Given the description of an element on the screen output the (x, y) to click on. 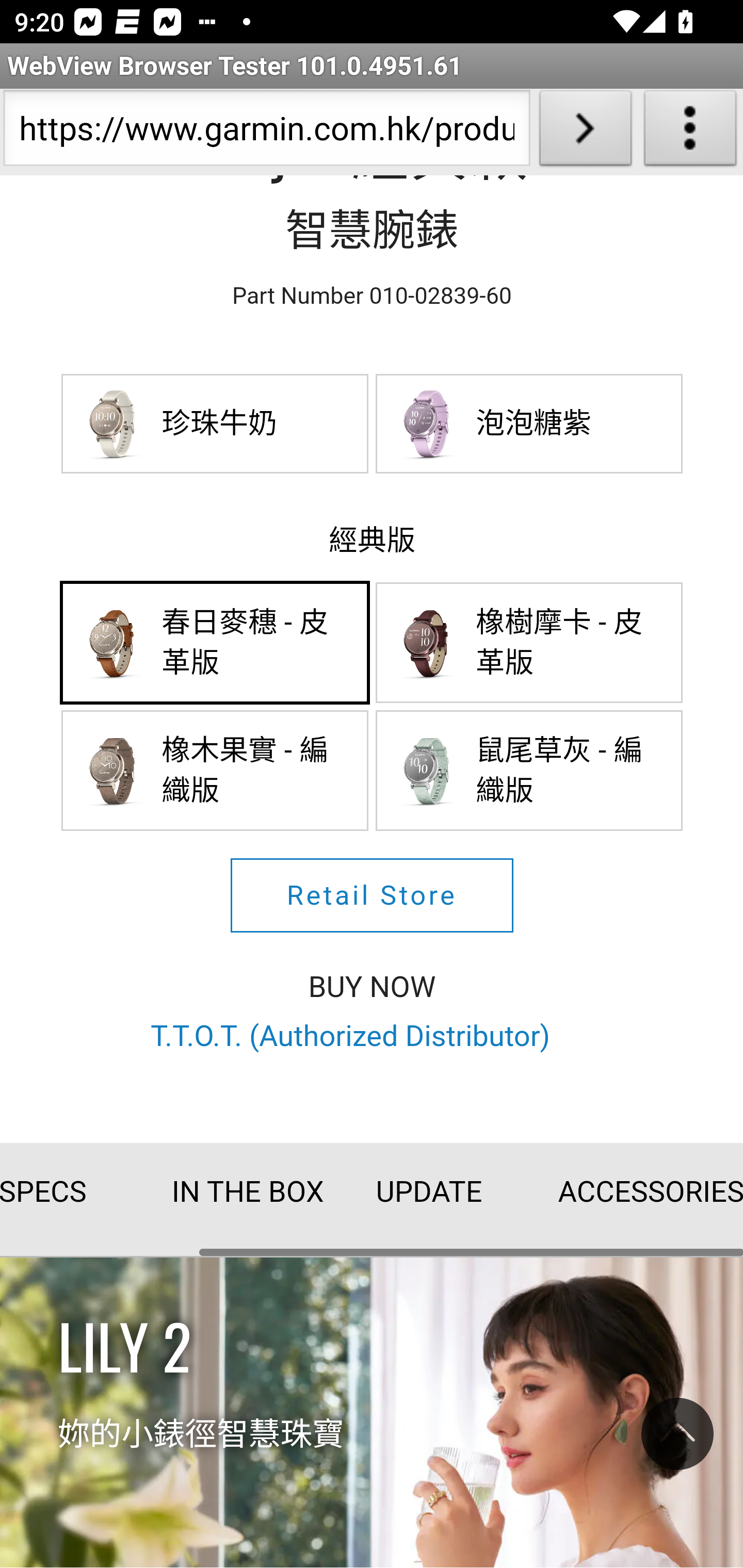
Load URL (585, 132)
About WebView (690, 132)
Lily 2 珍珠牛奶 010-02839-20 珍珠牛奶 (215, 423)
Lily 2 泡泡糖紫 010-02839-21 泡泡糖紫 (529, 423)
經典版 (372, 540)
Lily 2 經典款 春日麥穗 - 皮革版 010-02839-60 春日麥穗 - 皮革版 (215, 642)
Lily 2 經典款 橡樹摩卡 - 皮革版 010-02839-61 橡樹摩卡 - 皮革版 (529, 642)
Lily 2 經典款 橡木果實 - 編織版 010-02839-62 橡木果實 - 編織版 (215, 771)
Lily 2 經典款 鼠尾草灰 - 編織版 010-02839-63 鼠尾草灰 - 編織版 (529, 771)
Retail Store (371, 894)
T.T.O.T. (Authorized Distributor) (349, 1036)
SPECS (68, 1192)
IN THE BOX (235, 1192)
UPDATE (429, 1192)
ACCESSORIES (621, 1192)
Scroll Back to Top Back to Top (676, 1439)
